Given the description of an element on the screen output the (x, y) to click on. 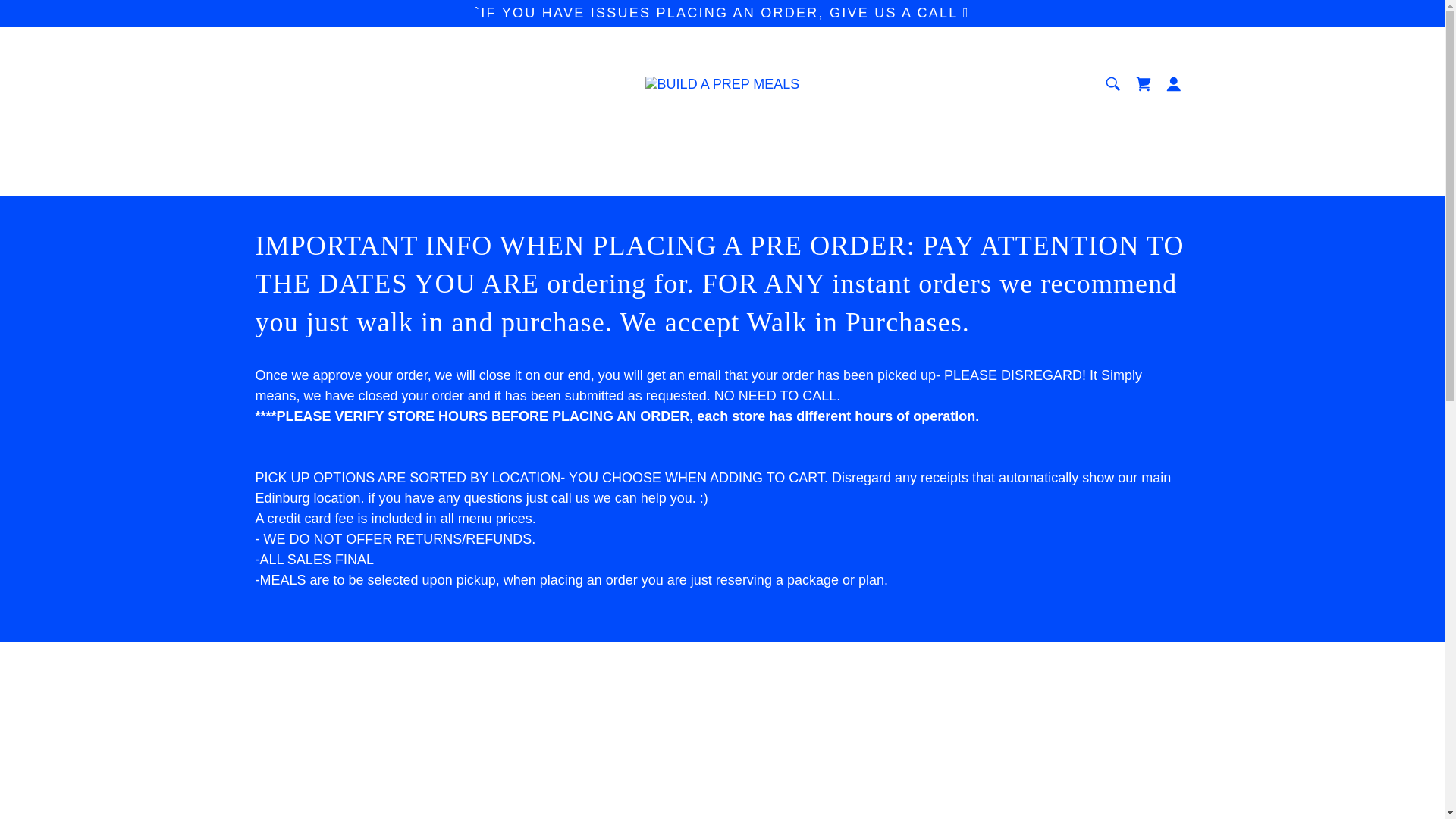
BUILD A PREP MEALS (722, 83)
